Given the description of an element on the screen output the (x, y) to click on. 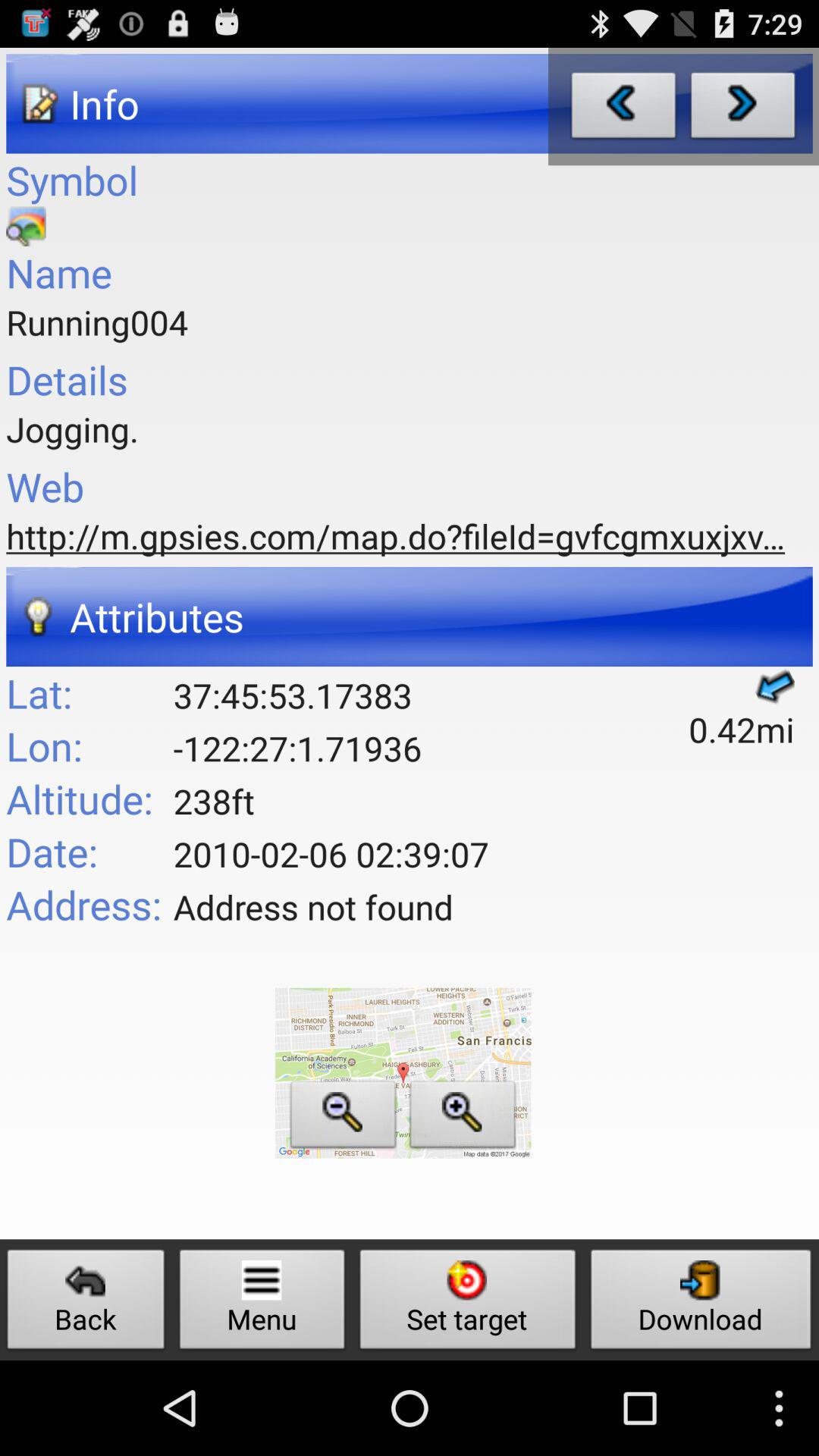
go forward (743, 109)
